Given the description of an element on the screen output the (x, y) to click on. 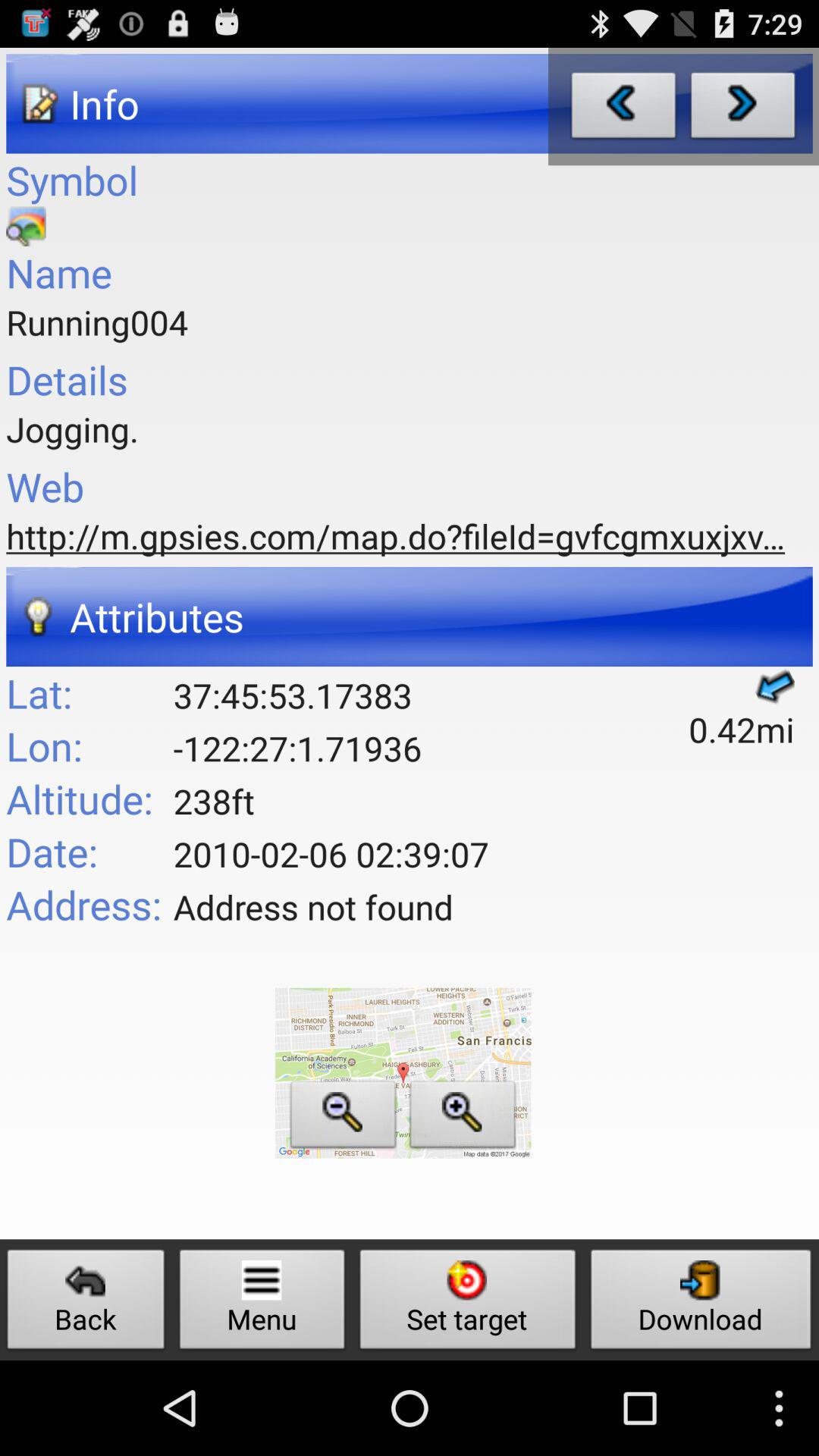
go forward (743, 109)
